Given the description of an element on the screen output the (x, y) to click on. 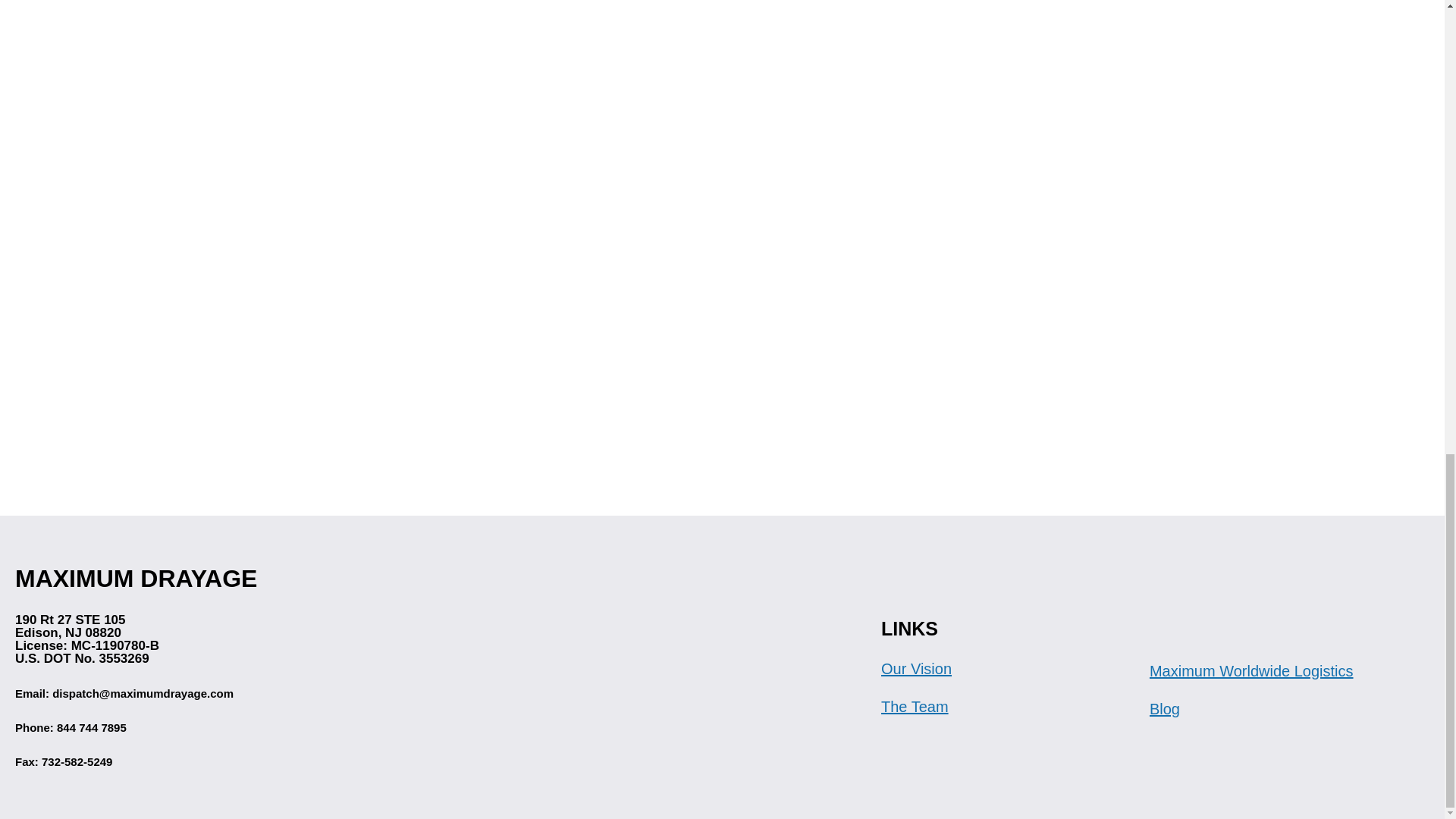
Our Vision (916, 668)
Blog (1164, 709)
Maximum Worldwide Logistics (1252, 670)
The Team (914, 706)
